Given the description of an element on the screen output the (x, y) to click on. 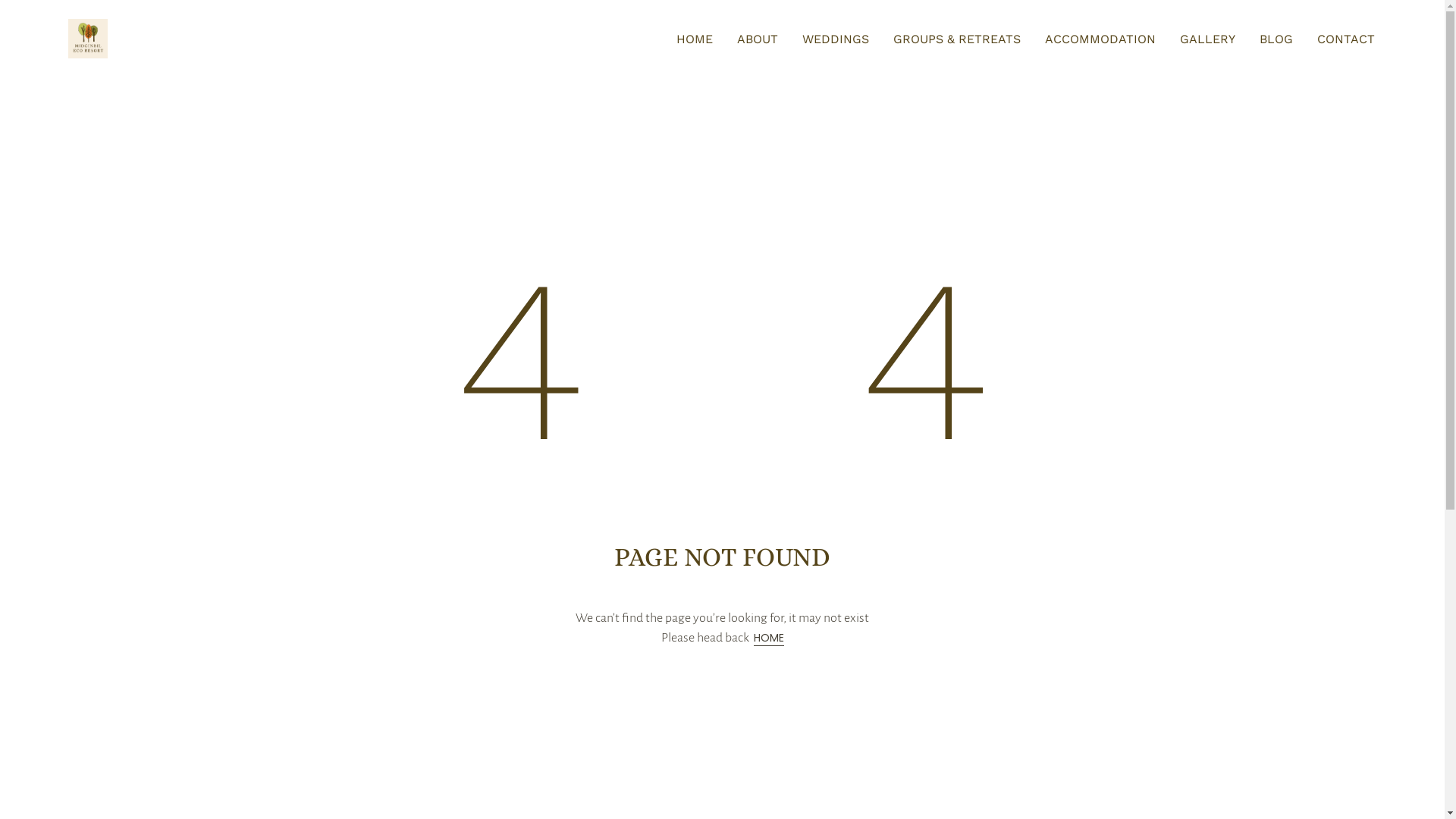
ABOUT Element type: text (757, 39)
ACCOMMODATION Element type: text (1099, 39)
CONTACT Element type: text (1345, 39)
HOME Element type: text (768, 638)
WEDDINGS Element type: text (835, 39)
GALLERY Element type: text (1207, 39)
GROUPS & RETREATS Element type: text (956, 39)
BLOG Element type: text (1275, 39)
HOME Element type: text (694, 39)
